Given the description of an element on the screen output the (x, y) to click on. 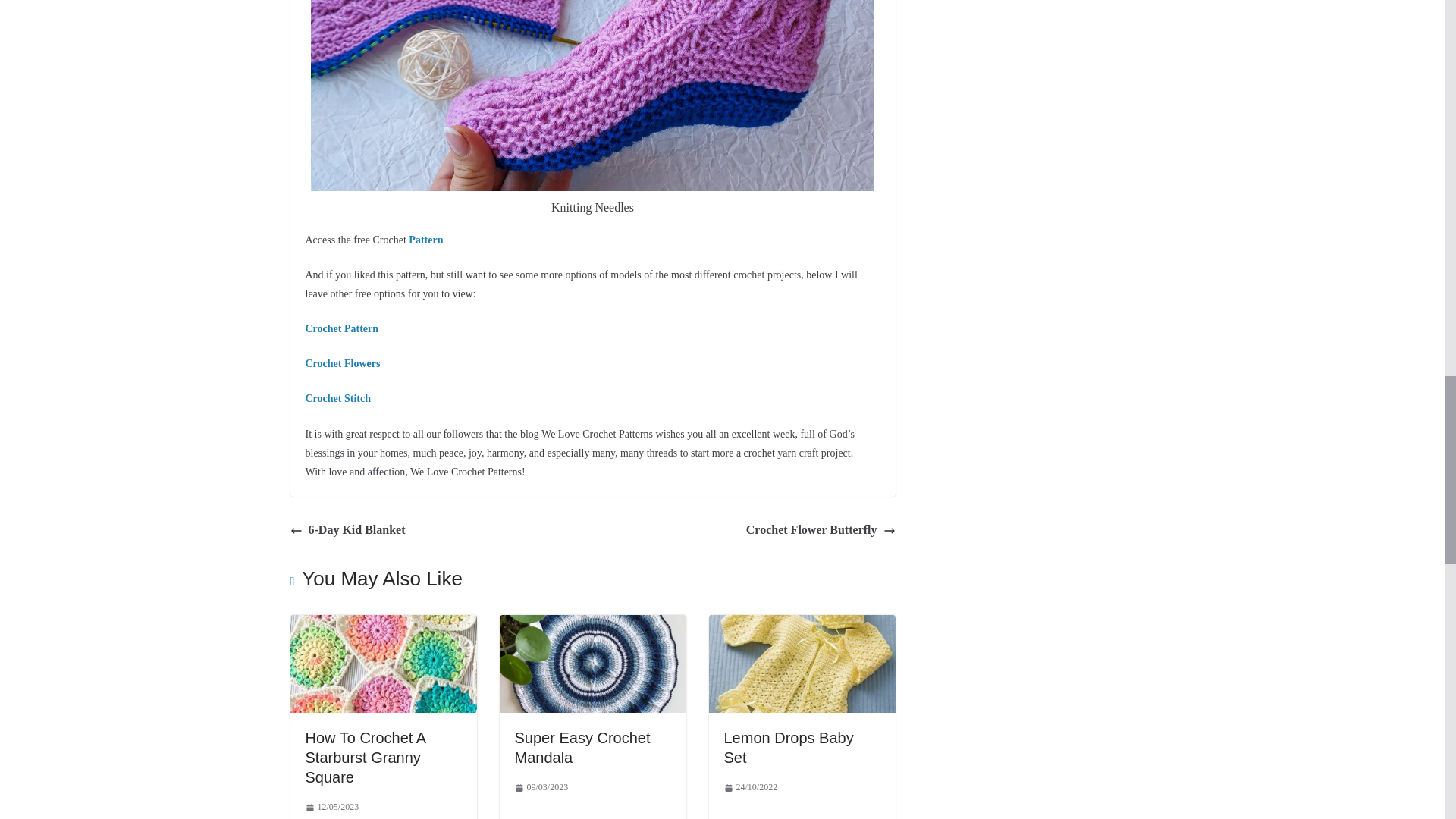
Crochet Stitch  (338, 398)
Crochet Flower Butterfly (820, 530)
6-Day Kid Blanket (346, 530)
Super Easy Crochet Mandala (581, 747)
How To Crochet A Starburst Granny Square (364, 757)
 Pattern (425, 238)
11:52 am (331, 807)
How To Crochet A Starburst Granny Square (364, 757)
Lemon Drops Baby Set (788, 747)
Crochet Pattern  (342, 328)
